Given the description of an element on the screen output the (x, y) to click on. 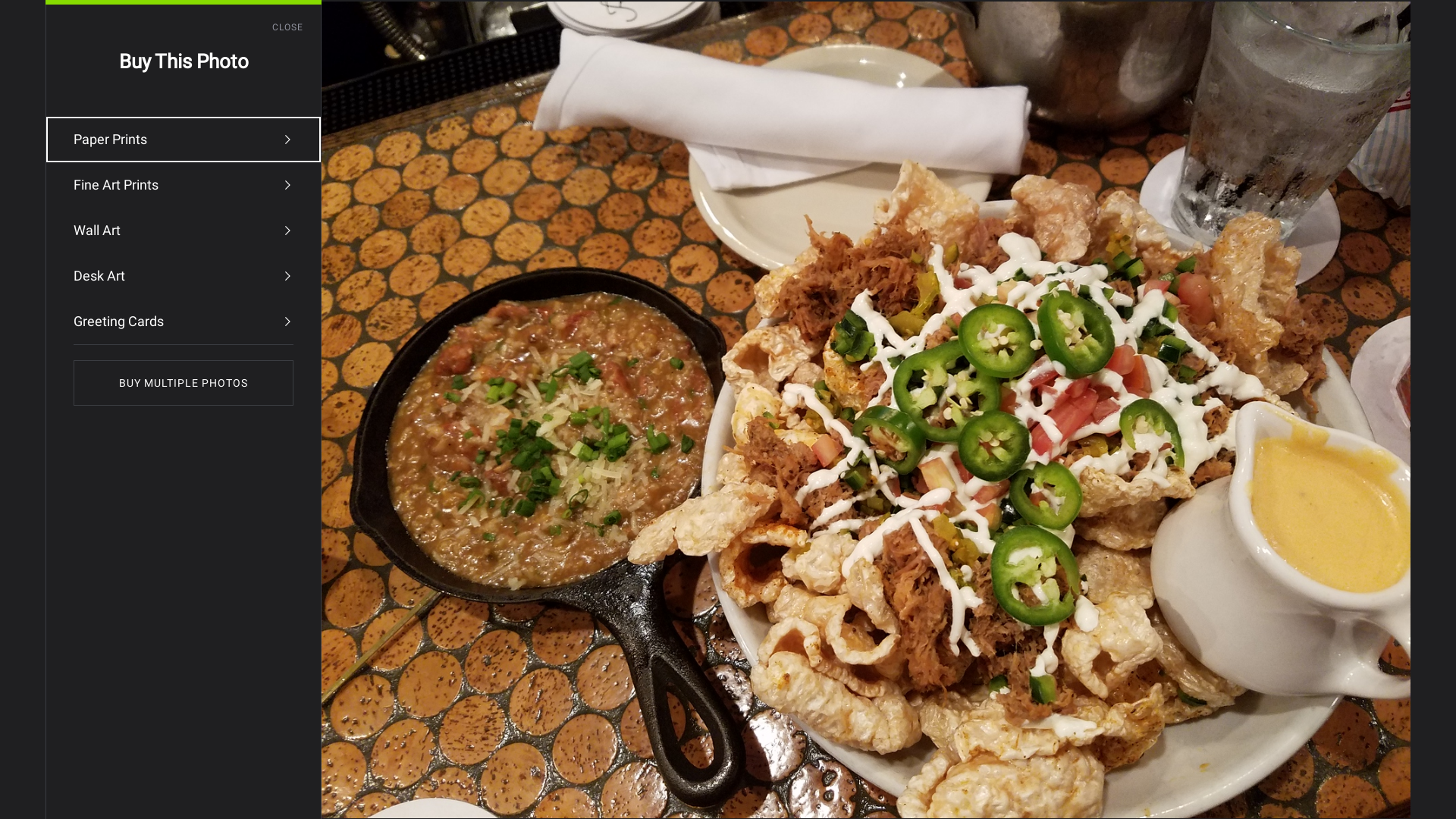
Prints & Gifts Element type: text (252, 517)
BUY PHOTOS Element type: text (1354, 411)
SmugMug Element type: hover (59, 22)
About SmugMug Element type: text (112, 517)
Fine Art Prints Element type: text (183, 184)
BUY MULTIPLE PHOTOS Element type: text (183, 382)
Greeting Cards Element type: text (183, 321)
Owner Log In Element type: text (430, 517)
Slideshow Element type: hover (1270, 411)
Wall Art Element type: text (183, 230)
Share Gallery Element type: hover (1232, 411)
CLOSE Element type: text (296, 27)
Contact Element type: text (378, 517)
Photo Sharing Element type: text (38, 517)
Paper Prints Element type: text (183, 139)
Privacy Element type: text (338, 517)
Terms Element type: text (300, 517)
Desk Art Element type: text (183, 275)
Search "Food & Drink" for photos Element type: hover (1380, 22)
Browse Photos Element type: text (186, 517)
